Given the description of an element on the screen output the (x, y) to click on. 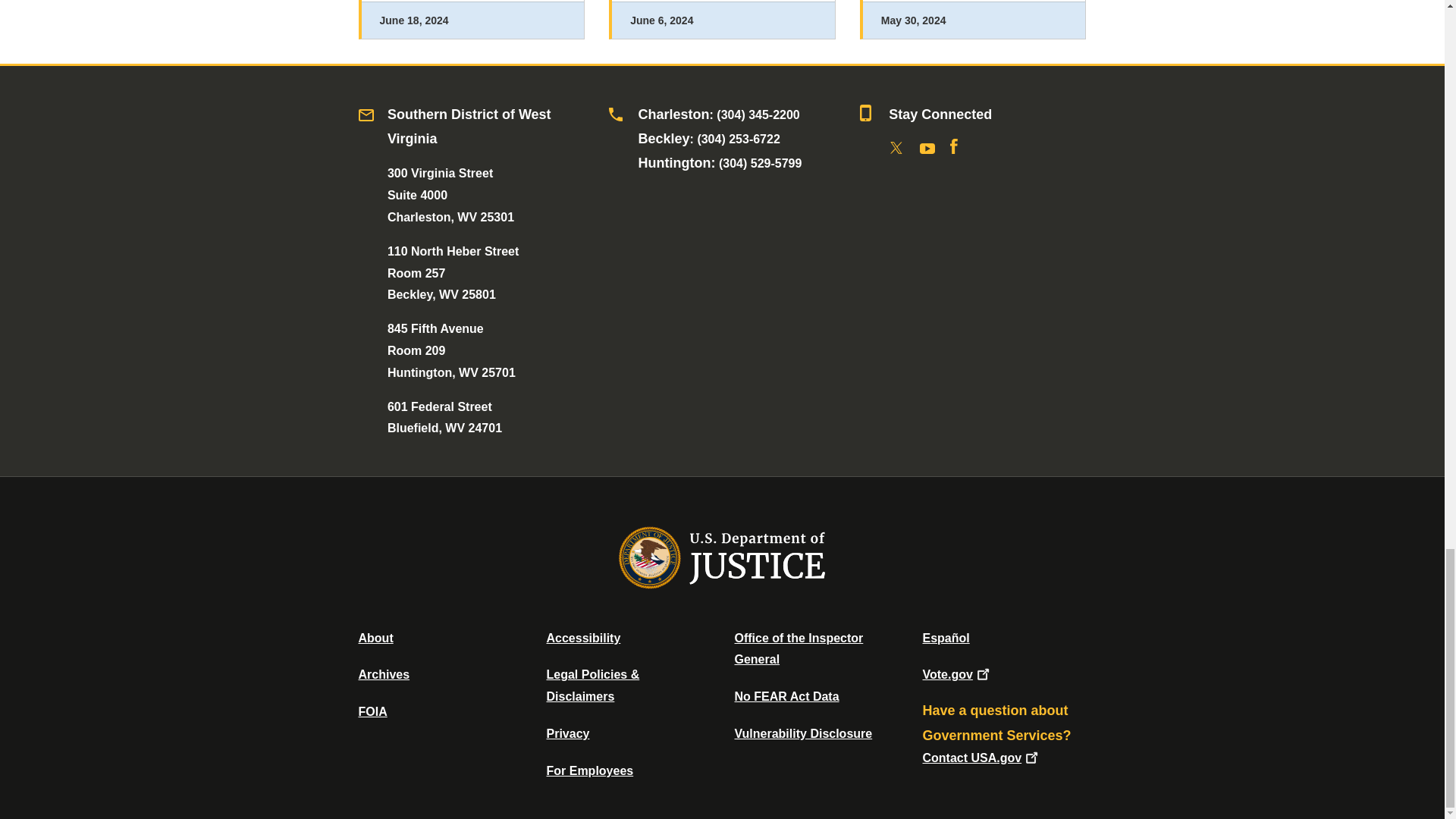
Legal Policies and Disclaimers (592, 685)
Office of Information Policy (372, 711)
For Employees (589, 770)
Accessibility Statement (583, 637)
Data Posted Pursuant To The No Fear Act (785, 696)
Department of Justice Archive (383, 674)
About DOJ (375, 637)
